Given the description of an element on the screen output the (x, y) to click on. 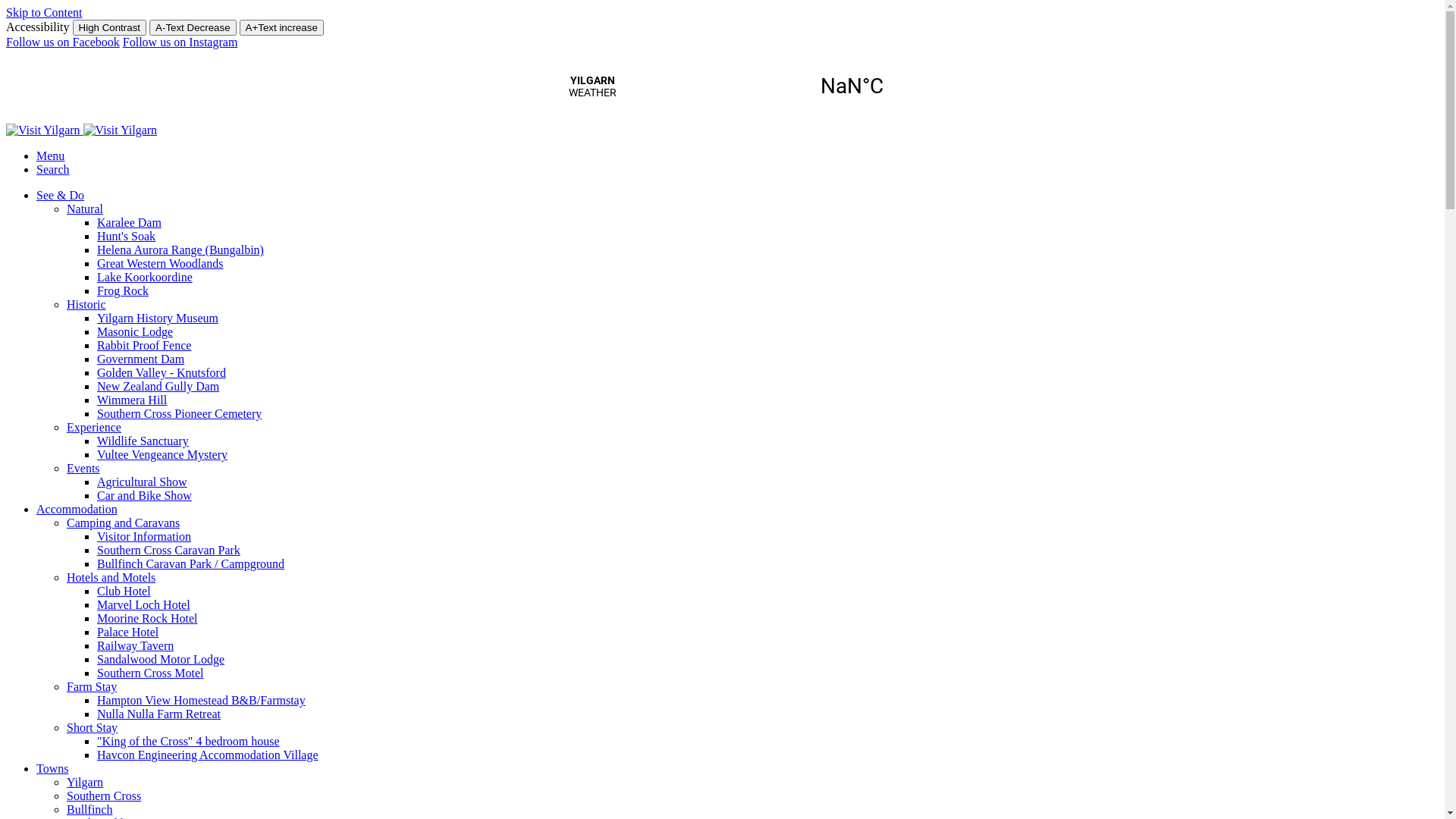
Hotels and Motels Element type: text (110, 577)
Masonic Lodge Element type: text (134, 331)
Helena Aurora Range (Bungalbin) Element type: text (180, 249)
Follow us on Instagram Element type: text (180, 41)
Golden Valley - Knutsford Element type: text (161, 372)
Southern Cross Caravan Park Element type: text (168, 549)
Vultee Vengeance Mystery Element type: text (162, 454)
Southern Cross Pioneer Cemetery Element type: text (179, 413)
Car and Bike Show Element type: text (144, 495)
Marvel Loch Hotel Element type: text (143, 604)
"King of the Cross" 4 bedroom house Element type: text (188, 740)
Moorine Rock Hotel Element type: text (147, 617)
High Contrast Element type: text (109, 27)
Follow us on Facebook Element type: text (62, 41)
Yilgarn Element type: text (84, 781)
Agricultural Show Element type: text (142, 481)
Sandalwood Motor Lodge Element type: text (160, 658)
Bullfinch Caravan Park / Campground Element type: text (190, 563)
See & Do Element type: text (60, 194)
Hampton View Homestead B&B/Farmstay Element type: text (201, 699)
New Zealand Gully Dam Element type: text (158, 385)
Historic Element type: text (86, 304)
Accommodation Element type: text (76, 508)
Government Dam Element type: text (140, 358)
Towns Element type: text (52, 768)
Rabbit Proof Fence Element type: text (144, 344)
Skip to Content Element type: text (43, 12)
Hunt's Soak Element type: text (126, 235)
Wimmera Hill Element type: text (131, 399)
Great Western Woodlands Element type: text (160, 263)
A+Text increase Element type: text (281, 27)
Camping and Caravans Element type: text (122, 522)
Palace Hotel Element type: text (127, 631)
Lake Koorkoordine Element type: text (144, 276)
Bullfinch Element type: text (89, 809)
Short Stay Element type: text (91, 727)
Natural Element type: text (84, 208)
Karalee Dam Element type: text (129, 222)
Wildlife Sanctuary Element type: text (142, 440)
Weather Widget Element type: hover (722, 86)
Railway Tavern Element type: text (135, 645)
Yilgarn History Museum Element type: text (157, 317)
Menu Element type: text (50, 155)
Havcon Engineering Accommodation Village Element type: text (207, 754)
Southern Cross Element type: text (103, 795)
Visitor Information Element type: text (144, 536)
Farm Stay Element type: text (91, 686)
Frog Rock Element type: text (122, 290)
A-Text Decrease Element type: text (192, 27)
Nulla Nulla Farm Retreat Element type: text (158, 713)
Southern Cross Motel Element type: text (150, 672)
YILGARN WEATHER Element type: text (722, 86)
Search Element type: text (52, 169)
Club Hotel Element type: text (123, 590)
Events Element type: text (83, 467)
Experience Element type: text (93, 426)
